Given the description of an element on the screen output the (x, y) to click on. 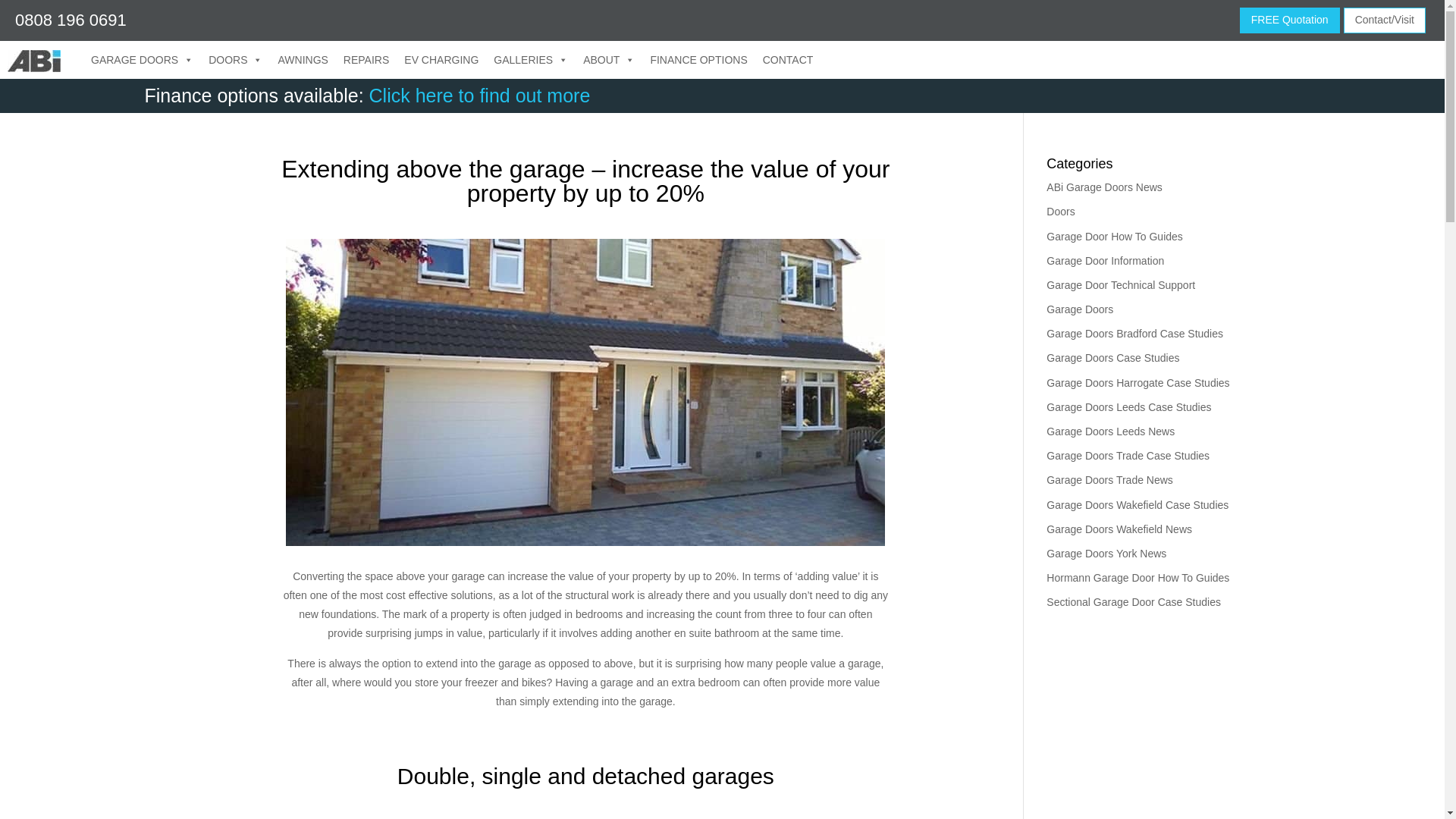
DOORS (234, 59)
Garage Door Repairs (366, 59)
0808 196 0691 (70, 19)
GARAGE DOORS (141, 59)
FREE Quotation (1289, 20)
